Given the description of an element on the screen output the (x, y) to click on. 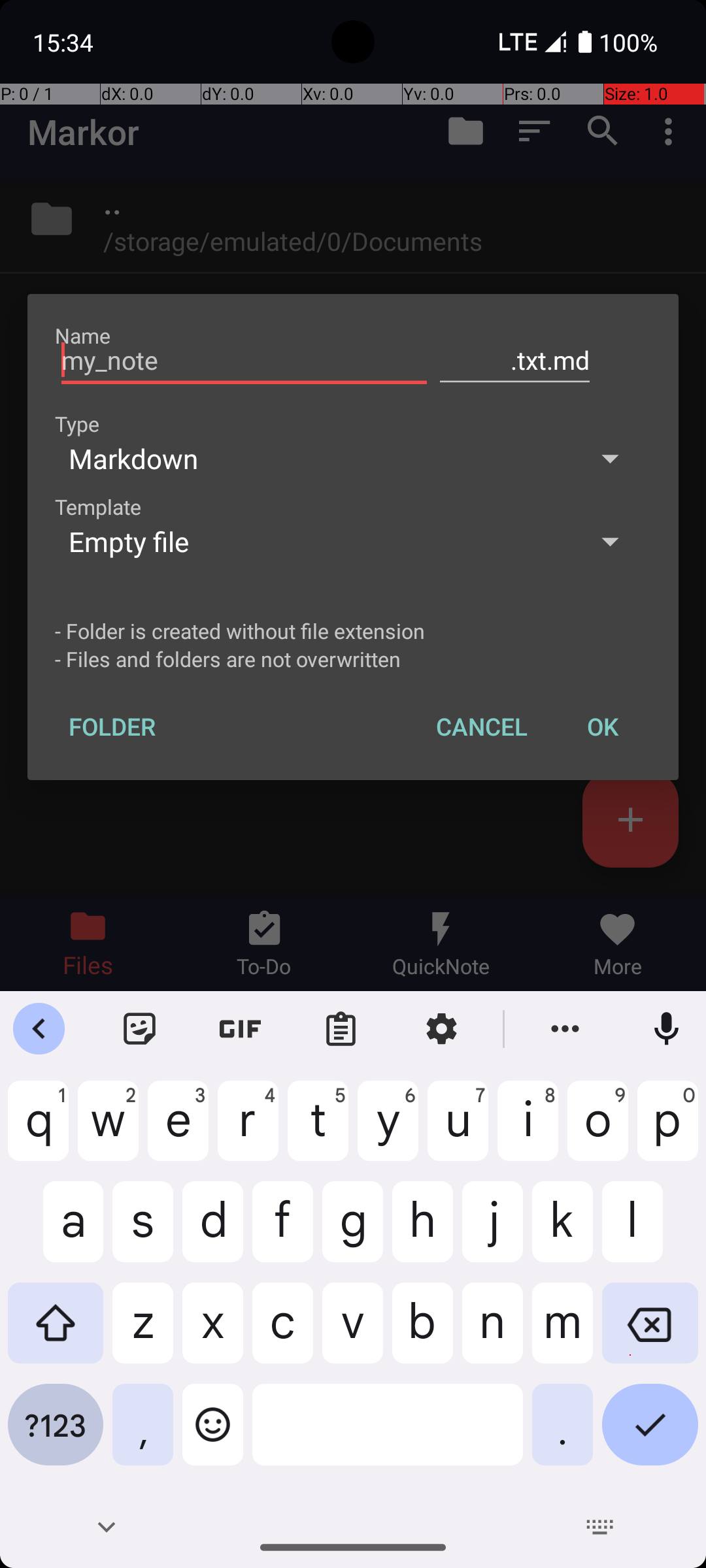
.txt.md Element type: android.widget.EditText (514, 360)
